Given the description of an element on the screen output the (x, y) to click on. 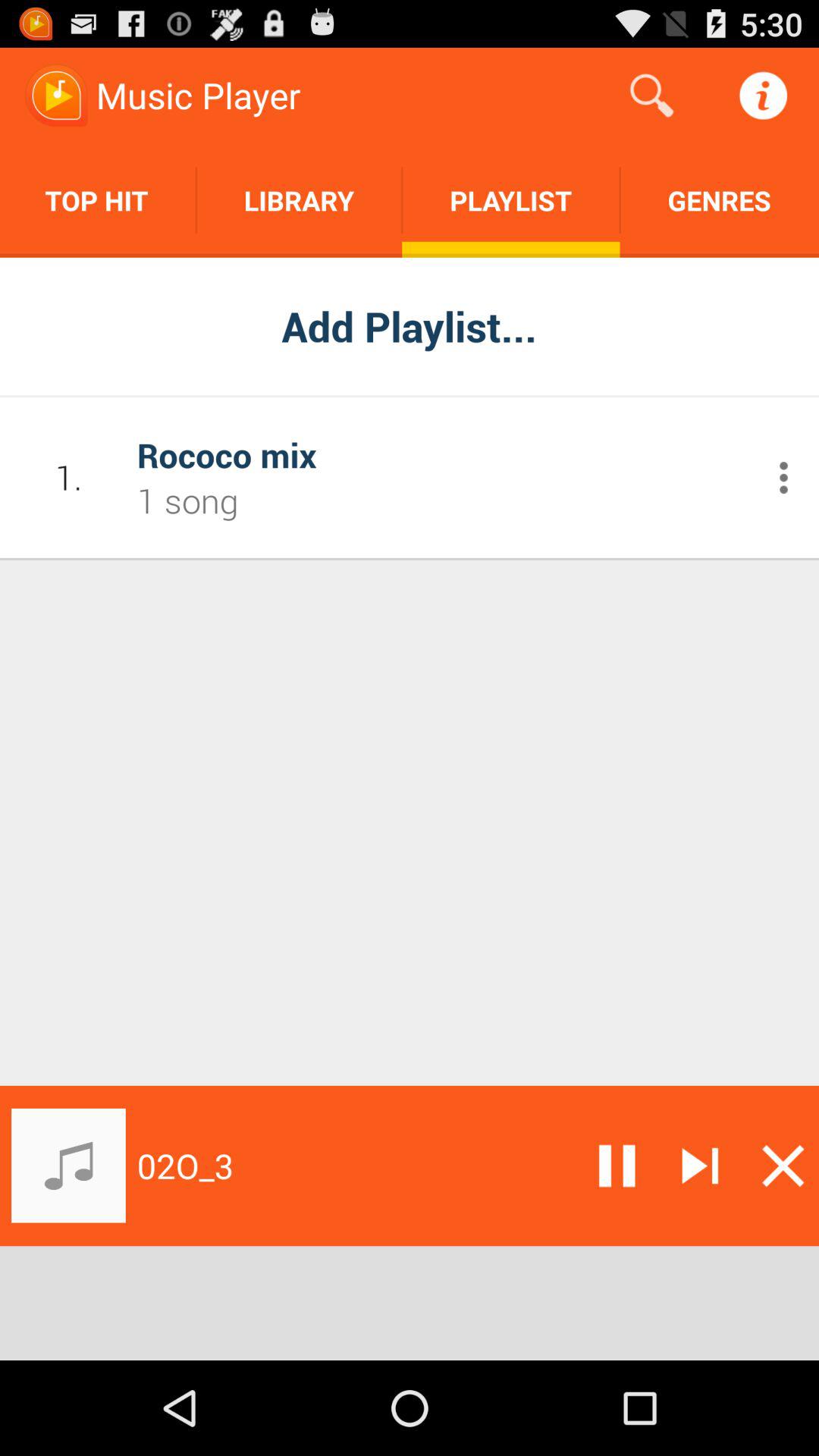
pause audio (616, 1165)
